Given the description of an element on the screen output the (x, y) to click on. 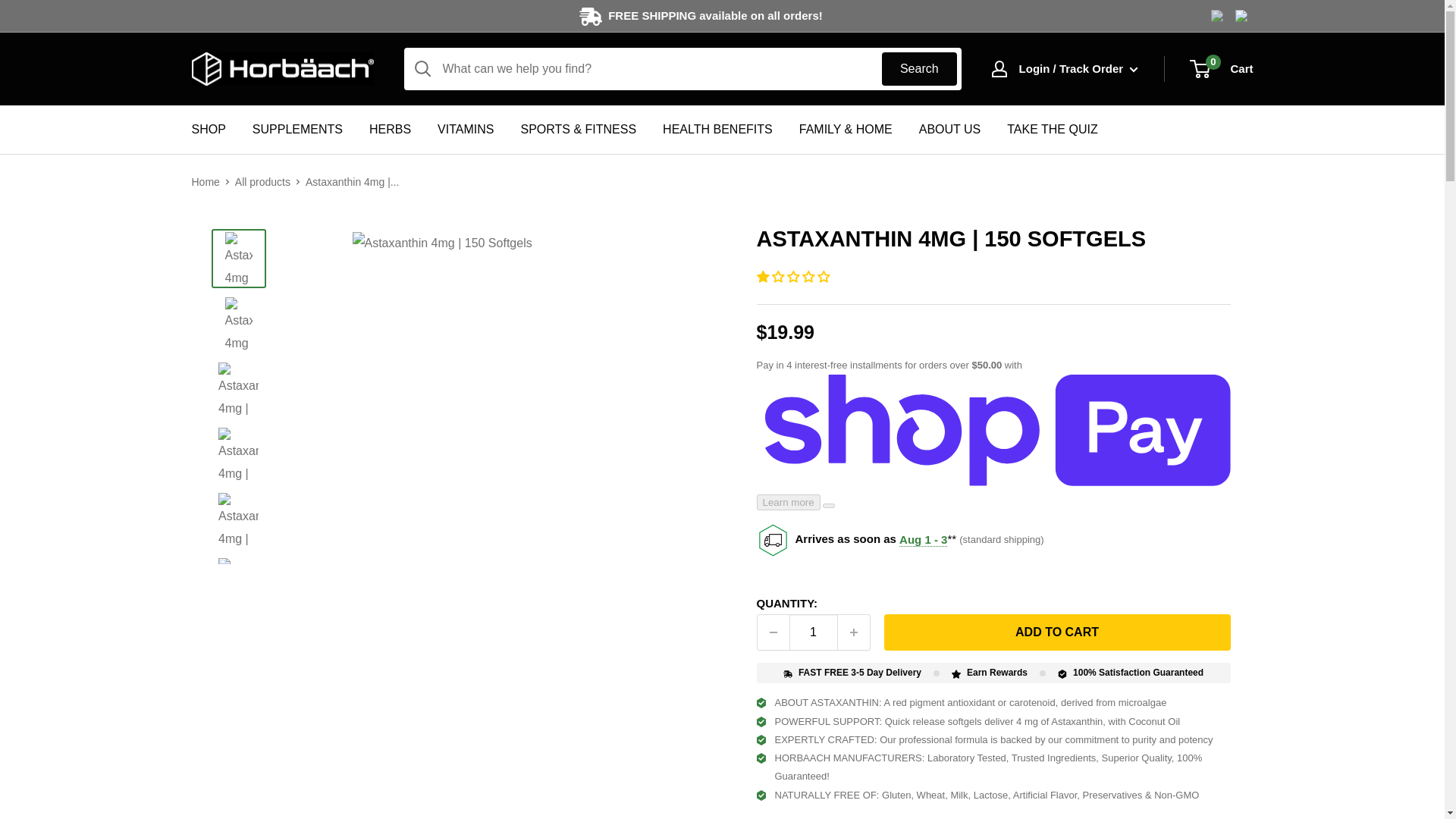
1 (813, 632)
Decrease quantity by 1 (773, 632)
Increase quantity by 1 (853, 632)
